Given the description of an element on the screen output the (x, y) to click on. 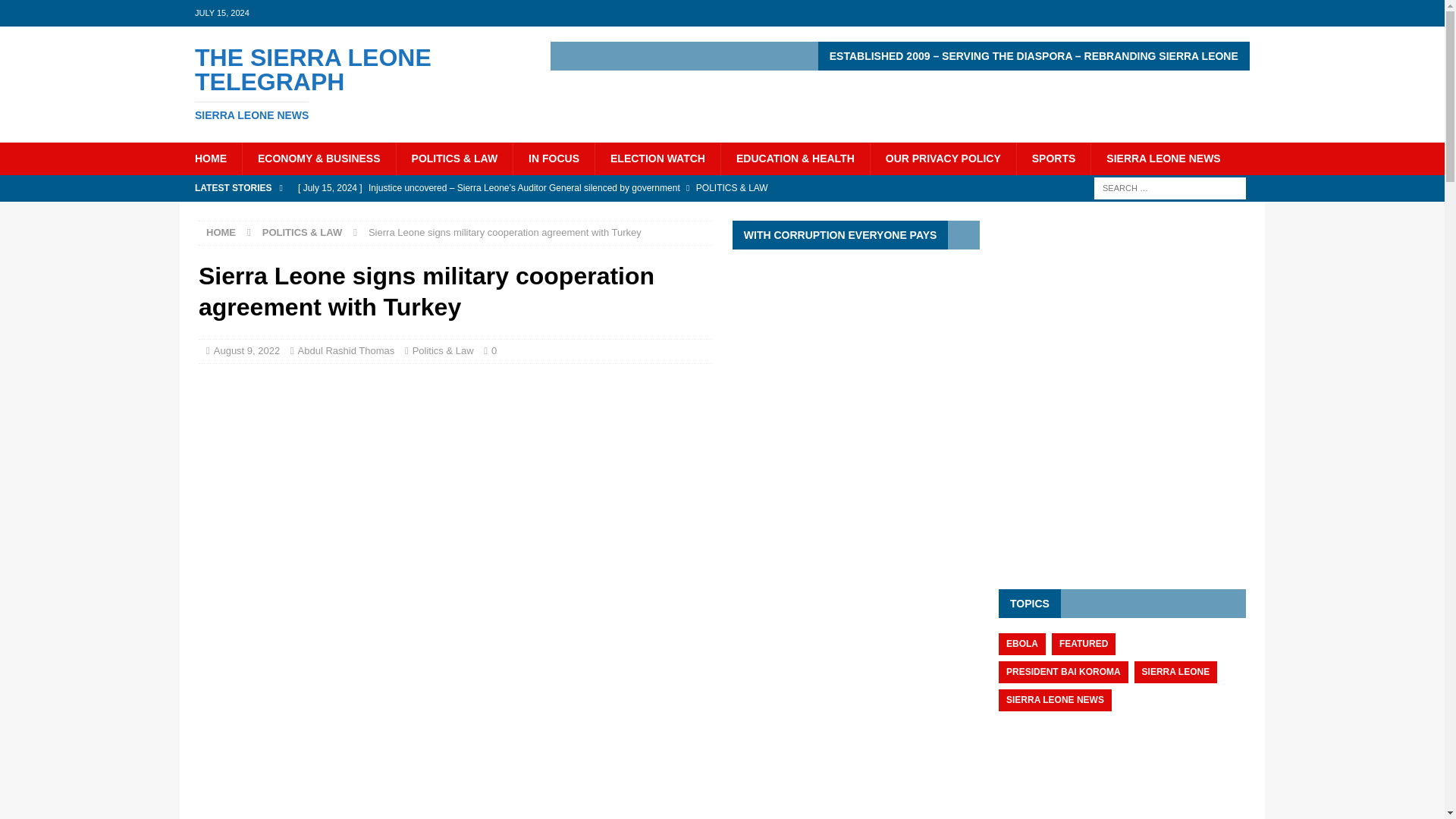
HOME (220, 232)
The Sierra Leone Telegraph (351, 83)
Abdul Rashid Thomas (346, 350)
Search (56, 11)
ELECTION WATCH (657, 158)
OUR PRIVACY POLICY (942, 158)
HOME (210, 158)
SPORTS (1053, 158)
IN FOCUS (553, 158)
August 9, 2022 (246, 350)
SIERRA LEONE NEWS (351, 83)
0 (1162, 158)
